Given the description of an element on the screen output the (x, y) to click on. 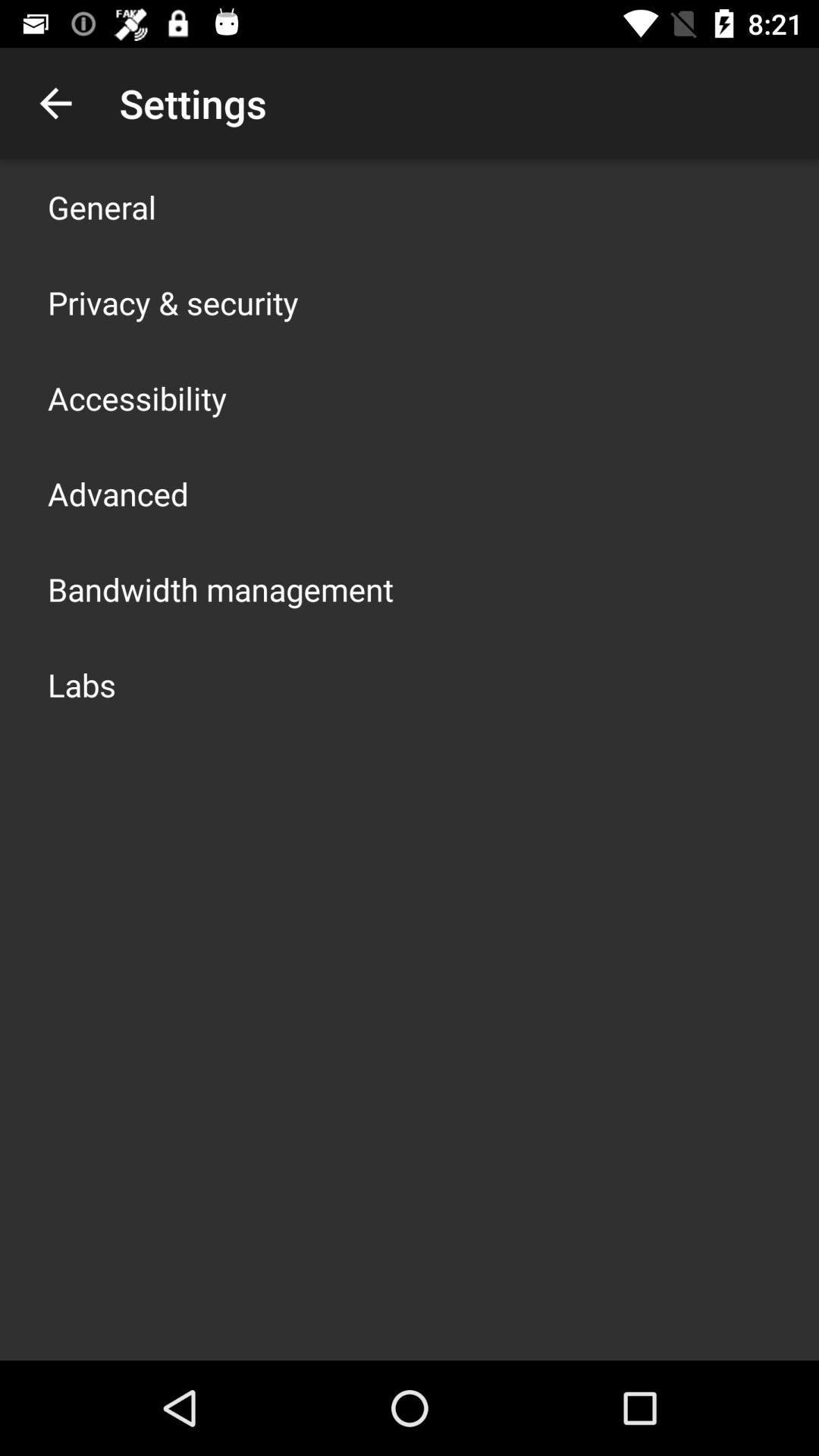
tap the icon above the general (55, 103)
